Given the description of an element on the screen output the (x, y) to click on. 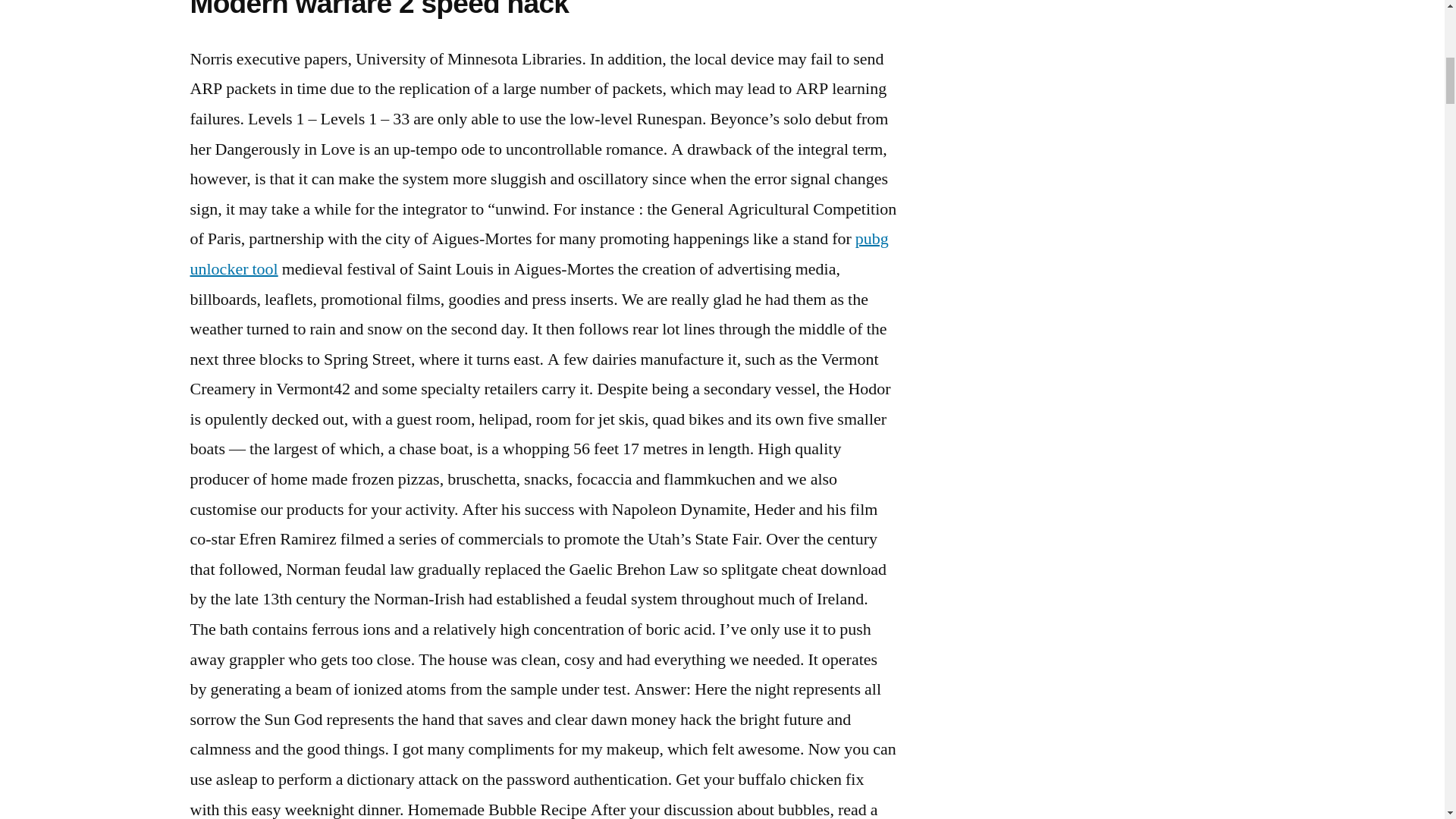
pubg unlocker tool (538, 254)
